Given the description of an element on the screen output the (x, y) to click on. 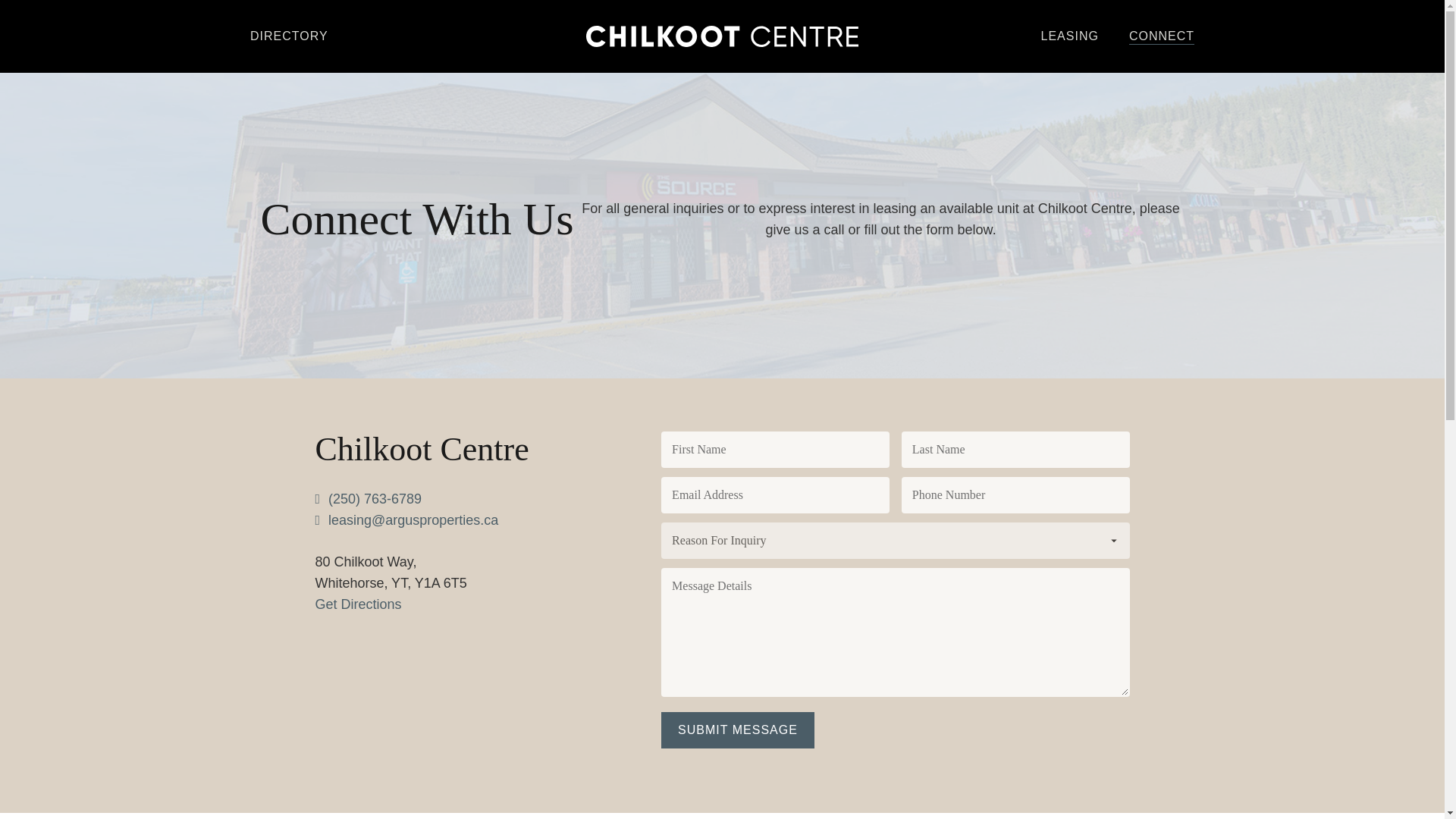
LEASING (1070, 36)
CONNECT (1161, 36)
Get Directions (357, 604)
DIRECTORY (289, 36)
Submit Message (737, 729)
Submit Message (737, 729)
